Given the description of an element on the screen output the (x, y) to click on. 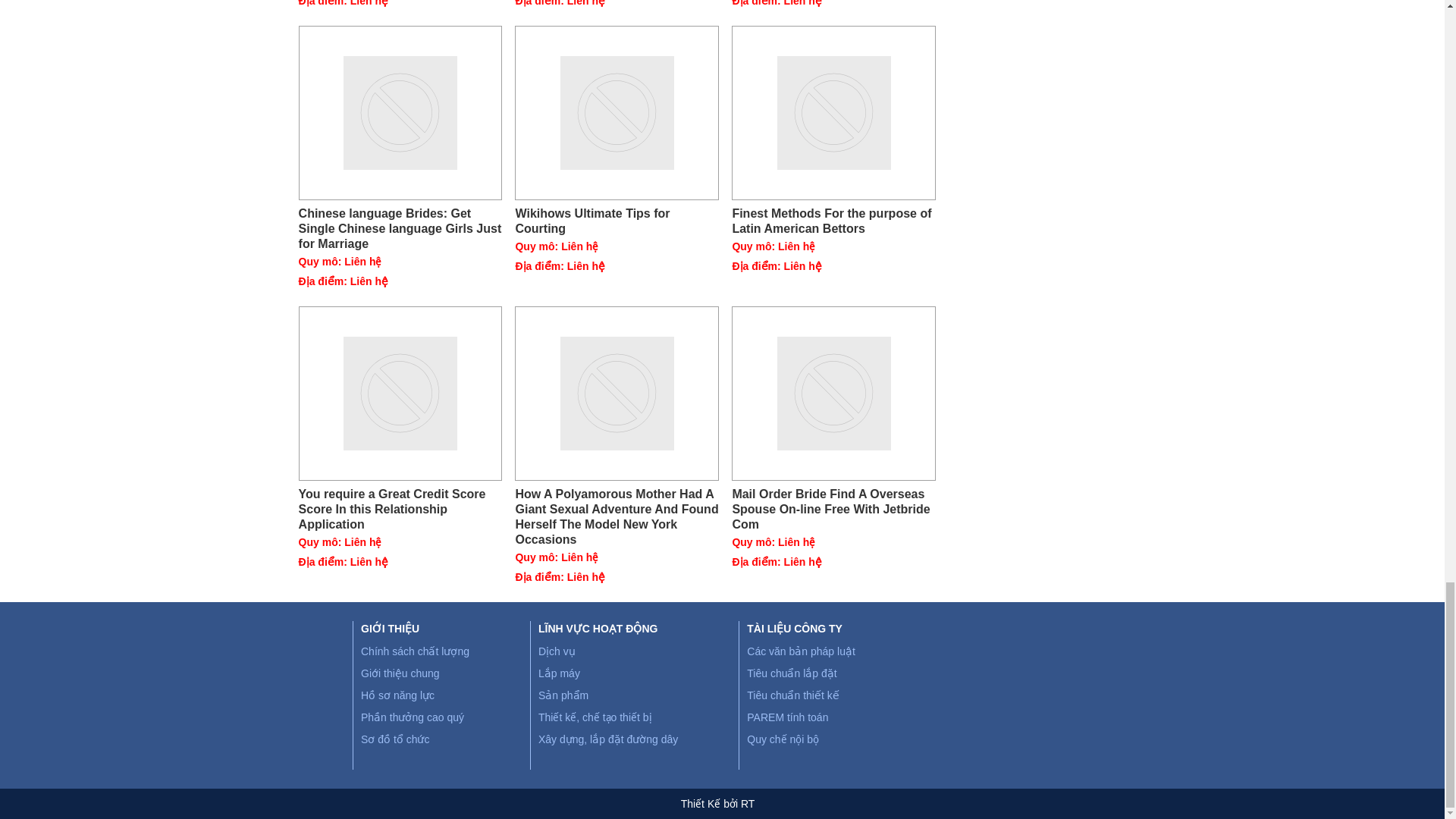
Wikihows Ultimate Tips for Courting (617, 221)
Wikihows Ultimate Tips for Courting (617, 221)
Wikihows Ultimate Tips for Courting (617, 112)
Finest Methods For the purpose of Latin American Bettors (834, 221)
Finest Methods For the purpose of Latin American Bettors (834, 221)
Finest Methods For the purpose of Latin American Bettors (834, 112)
